Given the description of an element on the screen output the (x, y) to click on. 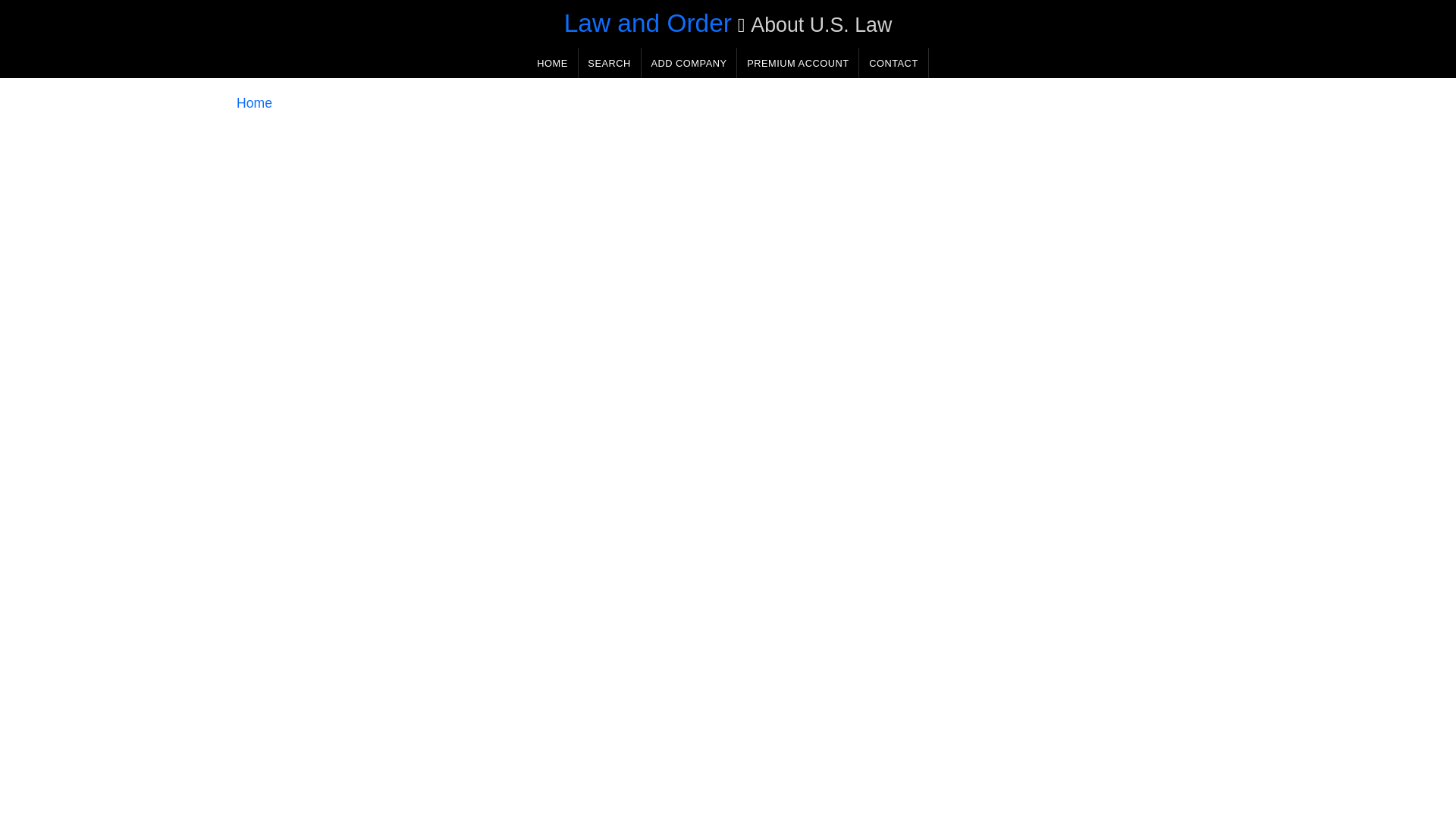
Home (253, 102)
HOME (551, 62)
ADD COMPANY (689, 62)
SEARCH (609, 62)
Law and Order (648, 22)
PREMIUM ACCOUNT (797, 62)
Premium account (797, 62)
Add a new company (689, 62)
CONTACT (893, 62)
